Given the description of an element on the screen output the (x, y) to click on. 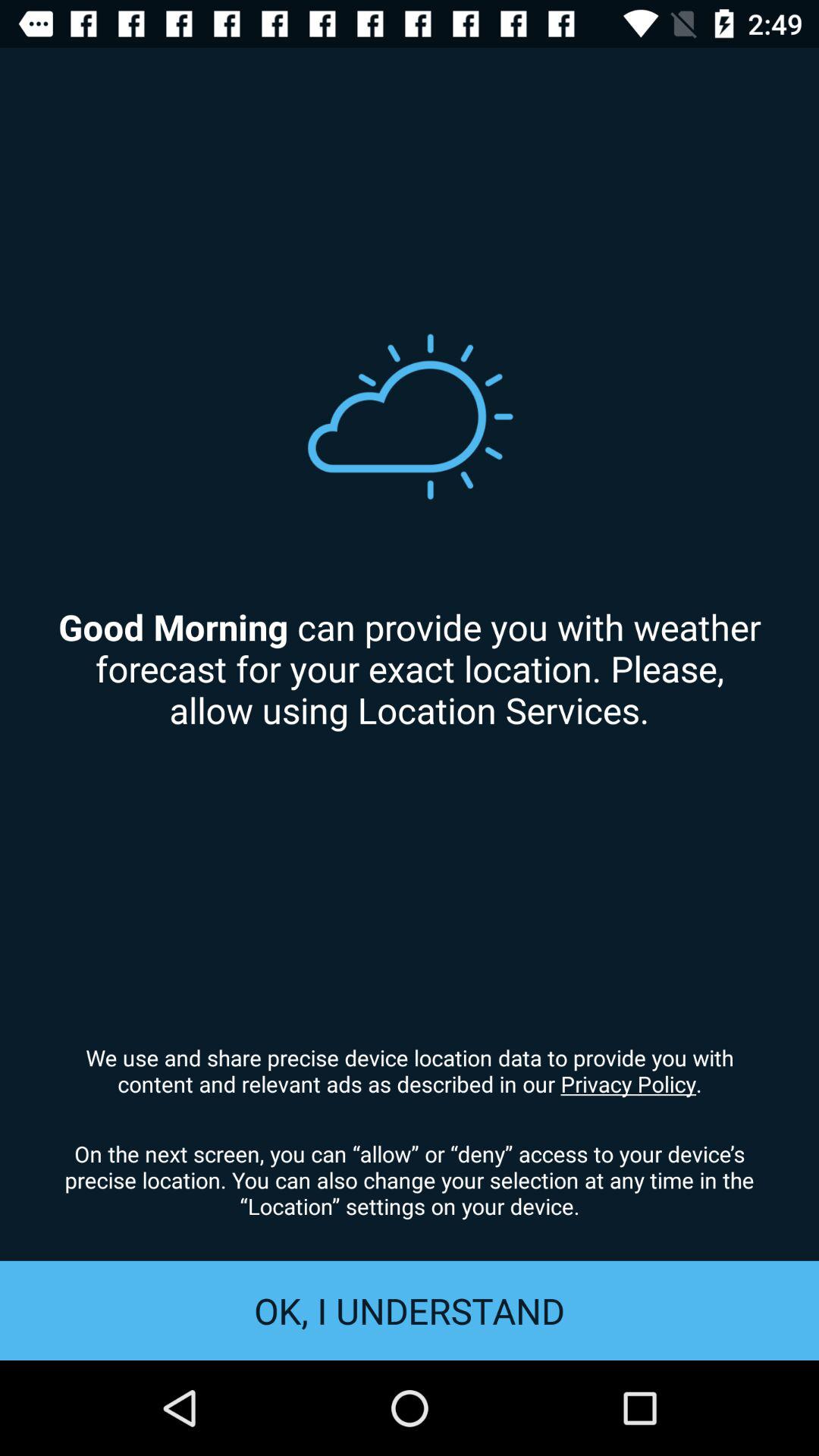
press item below the good morning can icon (409, 1070)
